Given the description of an element on the screen output the (x, y) to click on. 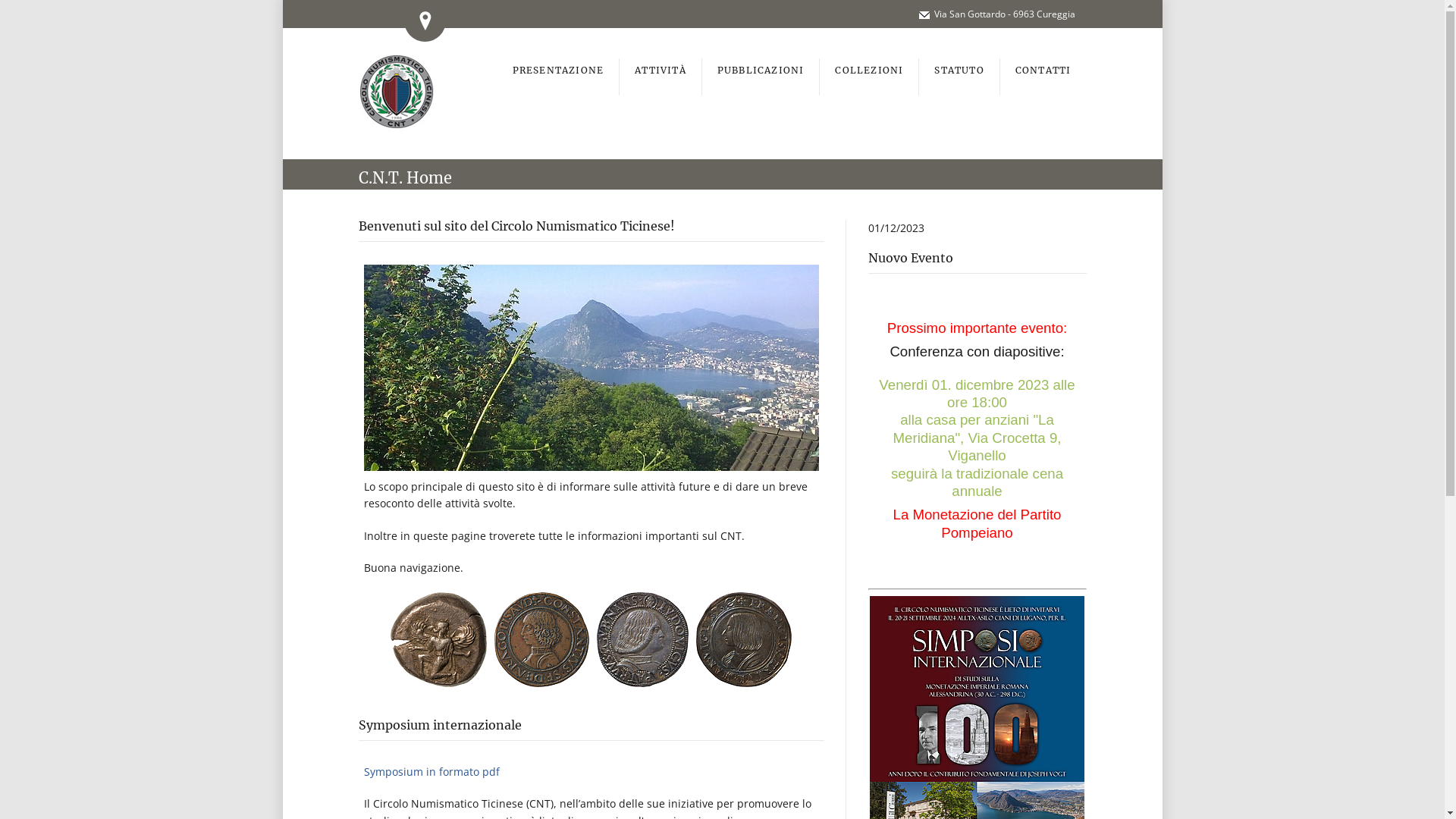
PRESENTAZIONE
  Element type: text (558, 76)
Nuovo Evento Element type: text (909, 257)
PUBBLICAZIONI
  Element type: text (761, 76)
COLLEZIONI
  Element type: text (869, 76)
Symposium in formato pdf Element type: text (431, 771)
CONTATTI
  Element type: text (1043, 76)
C.N.T. Element type: text (379, 177)
STATUTO
  Element type: text (959, 76)
